Given the description of an element on the screen output the (x, y) to click on. 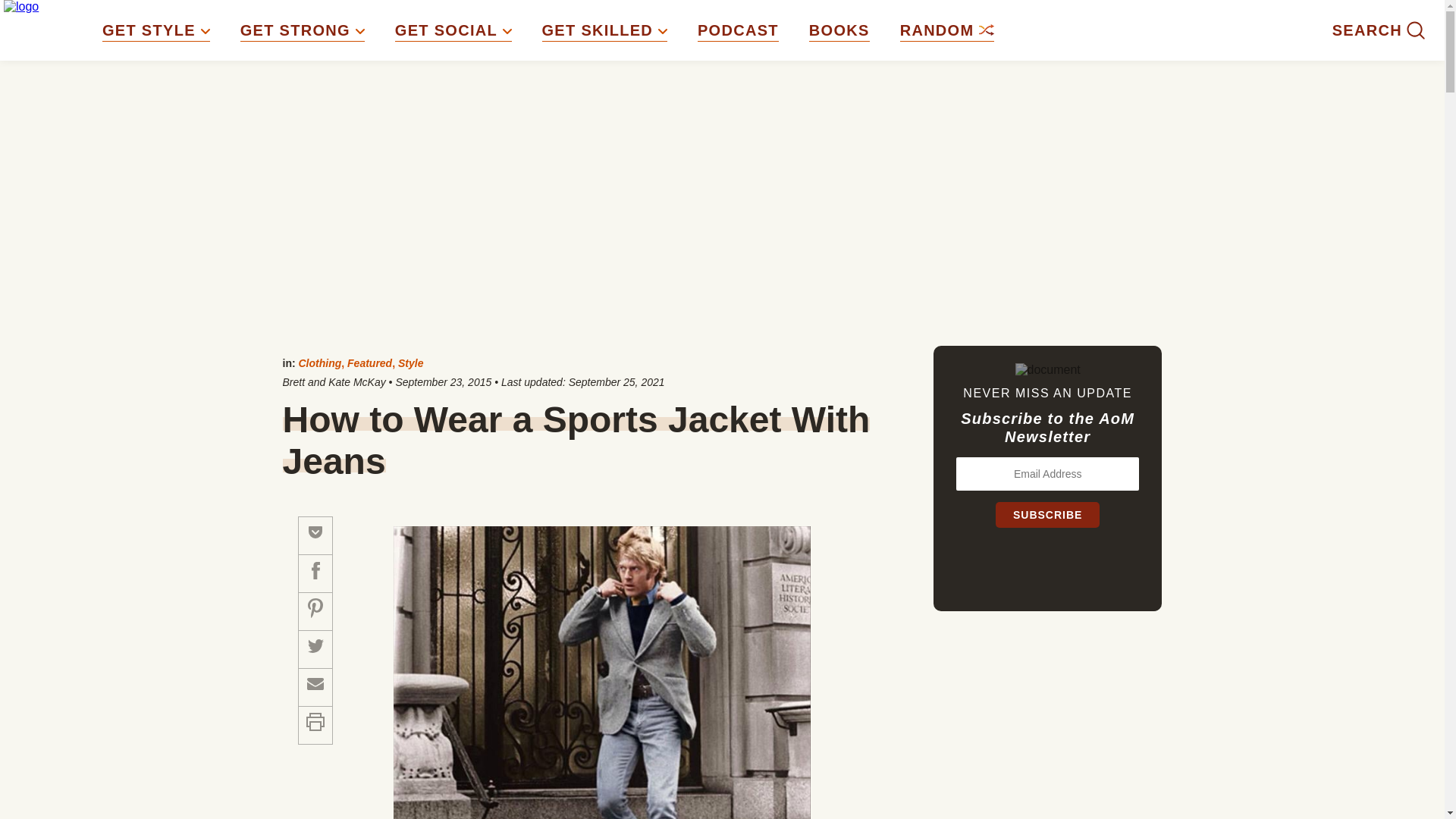
PODCAST (737, 30)
Subscribe (1047, 514)
GET SKILLED (603, 30)
GET STRONG (302, 30)
RANDOM (946, 30)
GET SOCIAL (453, 30)
BOOKS (839, 30)
GET STYLE (155, 30)
